Given the description of an element on the screen output the (x, y) to click on. 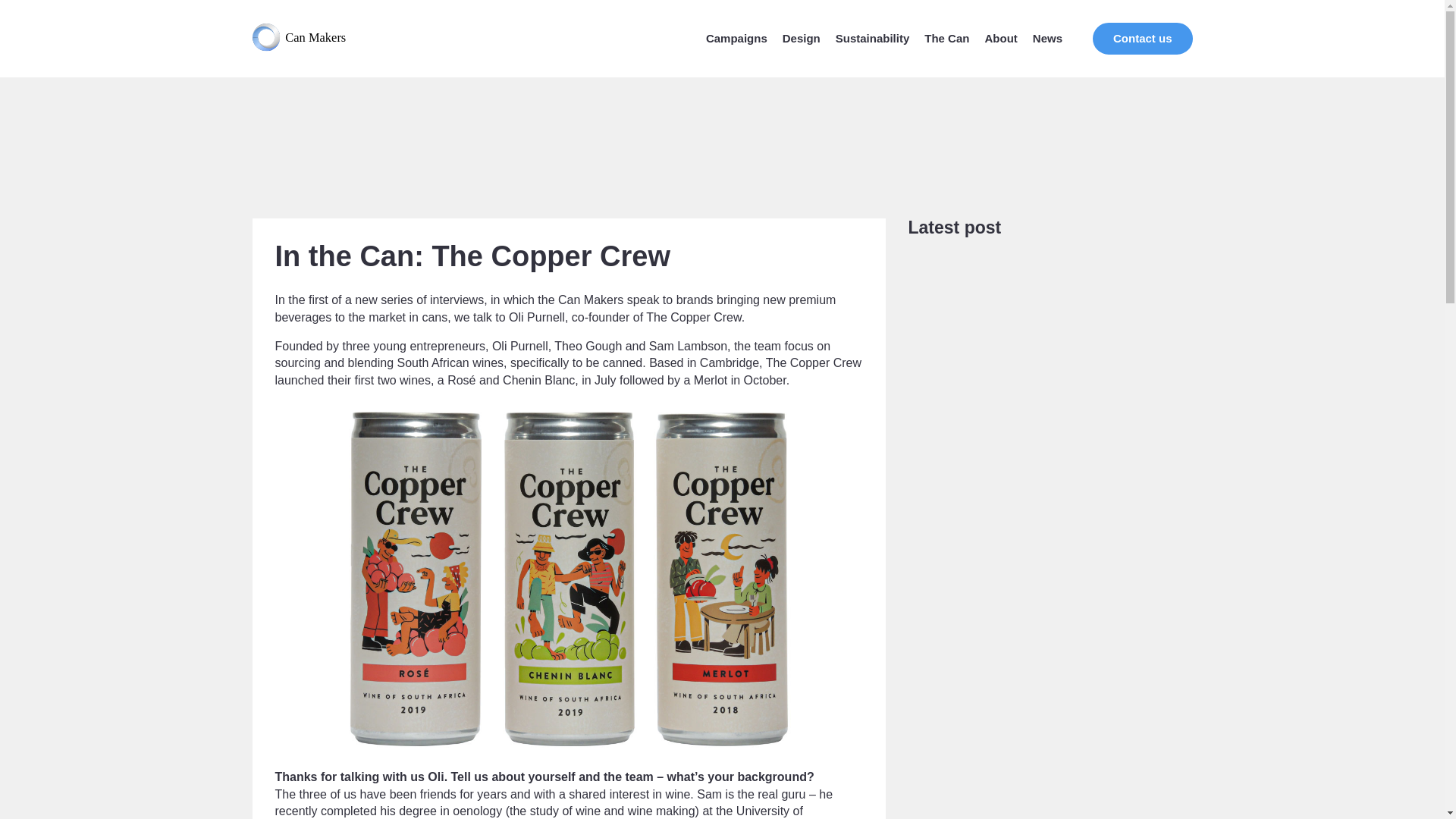
The Can (946, 38)
About (1000, 38)
Sustainability (872, 38)
Can Makers (306, 38)
Campaigns (736, 38)
News (1047, 38)
Design (802, 38)
Can Makers (306, 38)
Contact us (1142, 38)
